Given the description of an element on the screen output the (x, y) to click on. 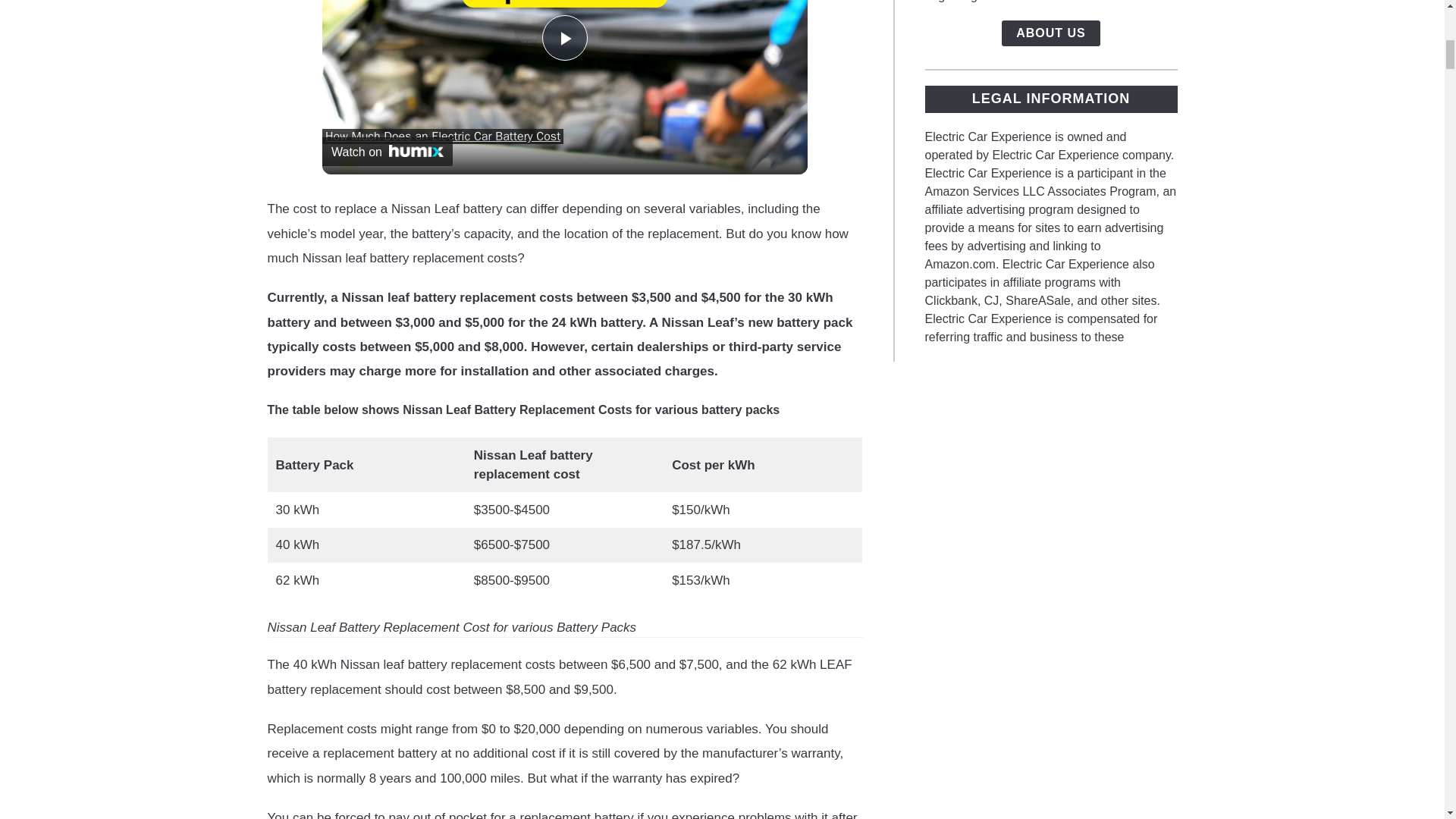
Play Video (564, 37)
